Given the description of an element on the screen output the (x, y) to click on. 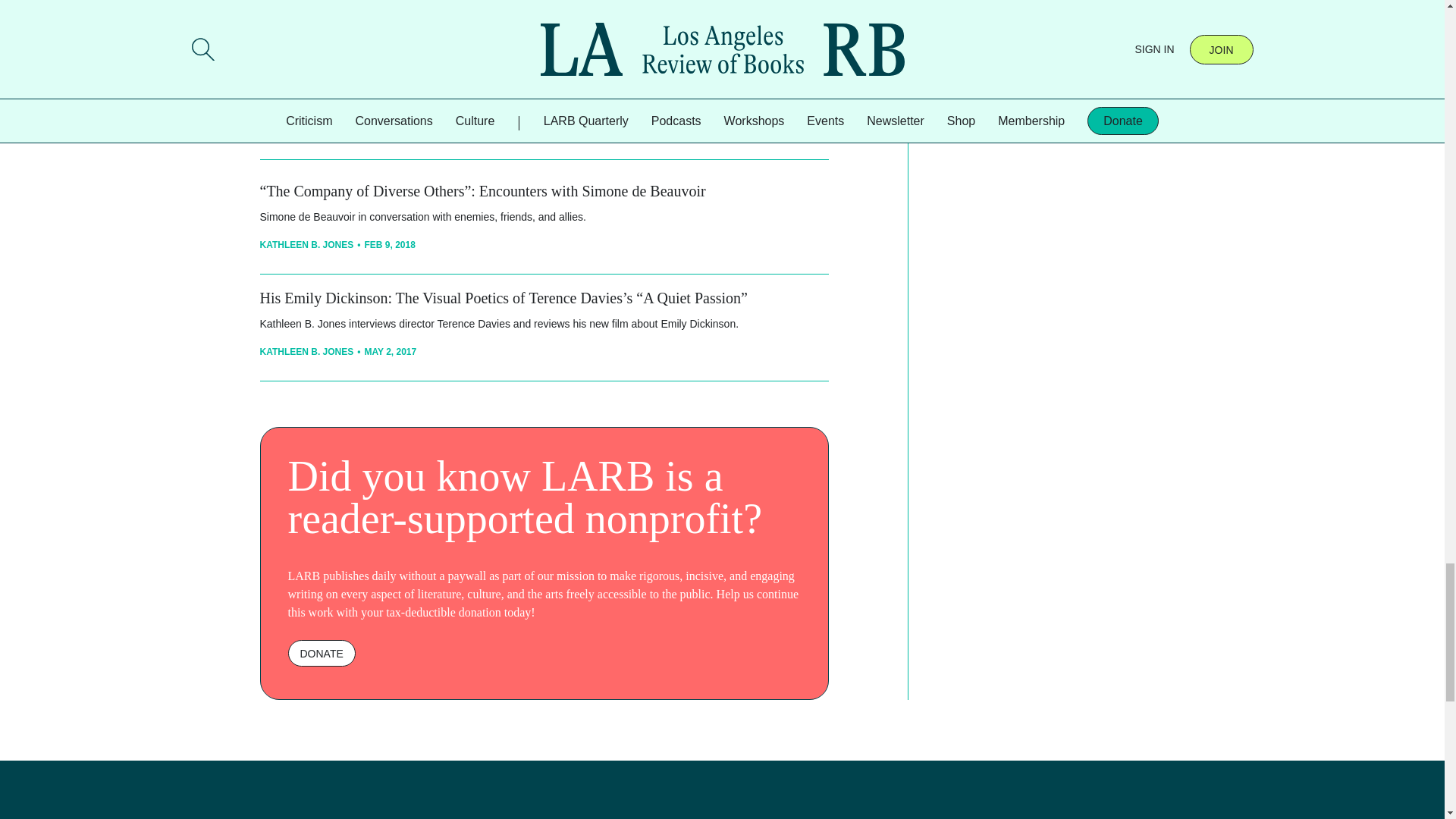
Share on facebook (456, 41)
COPY LINK TO ARTICLE (370, 41)
KATHLEEN B. JONES (306, 244)
Share on twitter (486, 41)
DONATE (321, 652)
KATHLEEN B. JONES (306, 351)
